Given the description of an element on the screen output the (x, y) to click on. 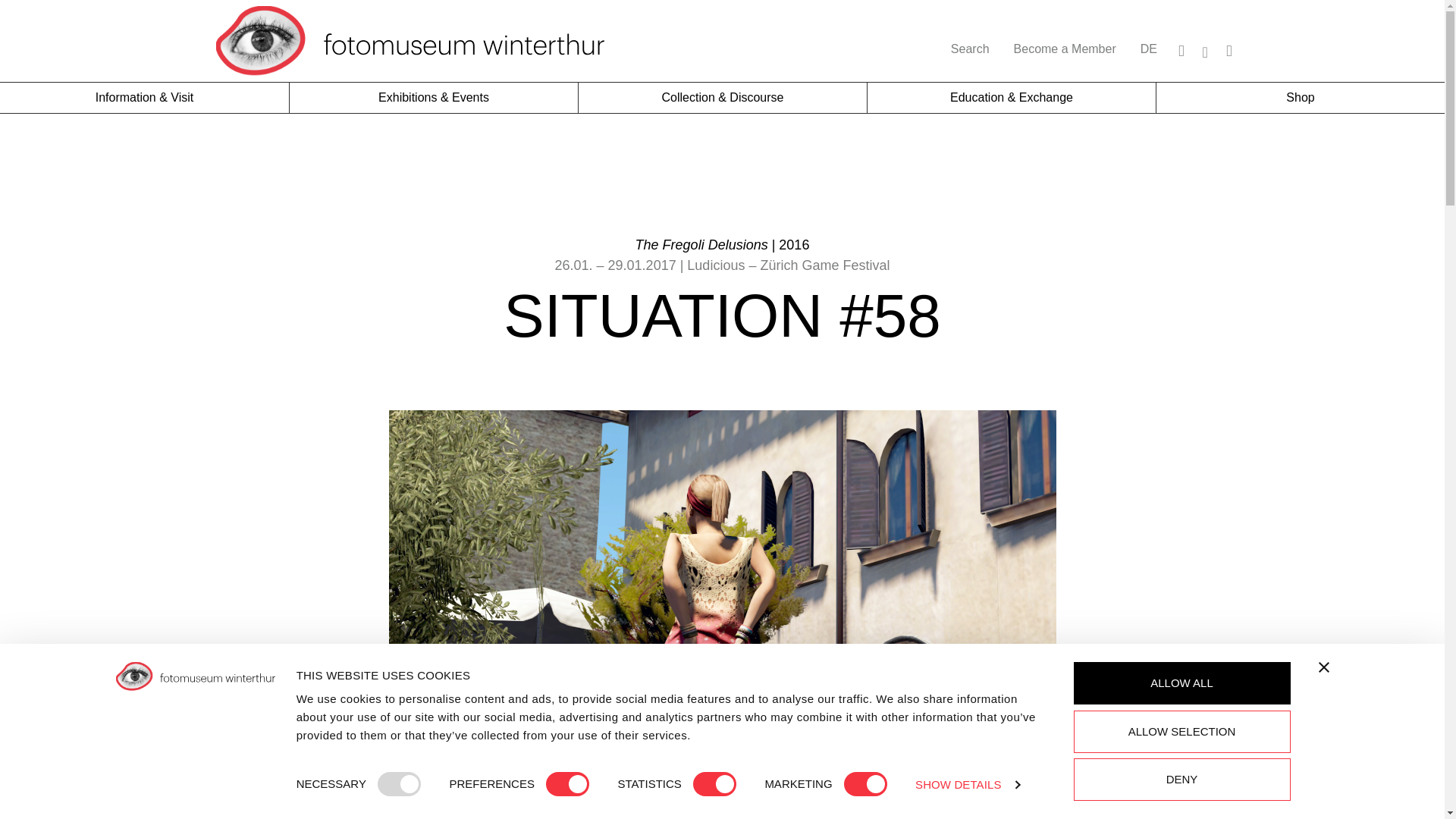
Deutsch (1148, 48)
SHOW DETAILS (967, 784)
